Given the description of an element on the screen output the (x, y) to click on. 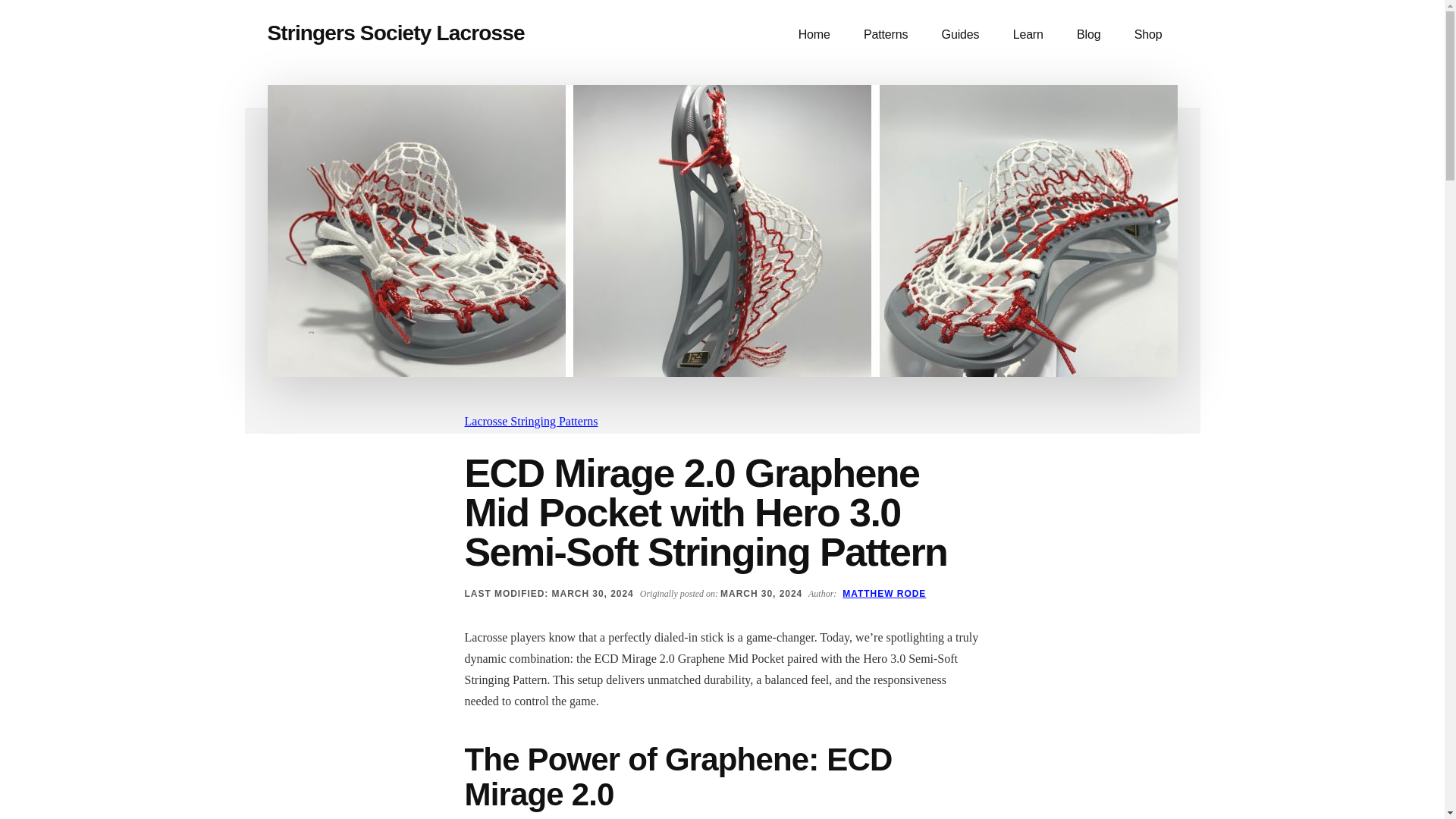
Guides (960, 34)
Patterns (885, 34)
MATTHEW RODE (884, 593)
lacrosse blog (1088, 34)
Home (814, 34)
Shop (1148, 34)
Learn (1027, 34)
Blog (1088, 34)
lacrosse shop (1148, 34)
stringers society home (814, 34)
Stringers Society Lacrosse (395, 33)
Lacrosse Stringing Patterns (530, 420)
